Given the description of an element on the screen output the (x, y) to click on. 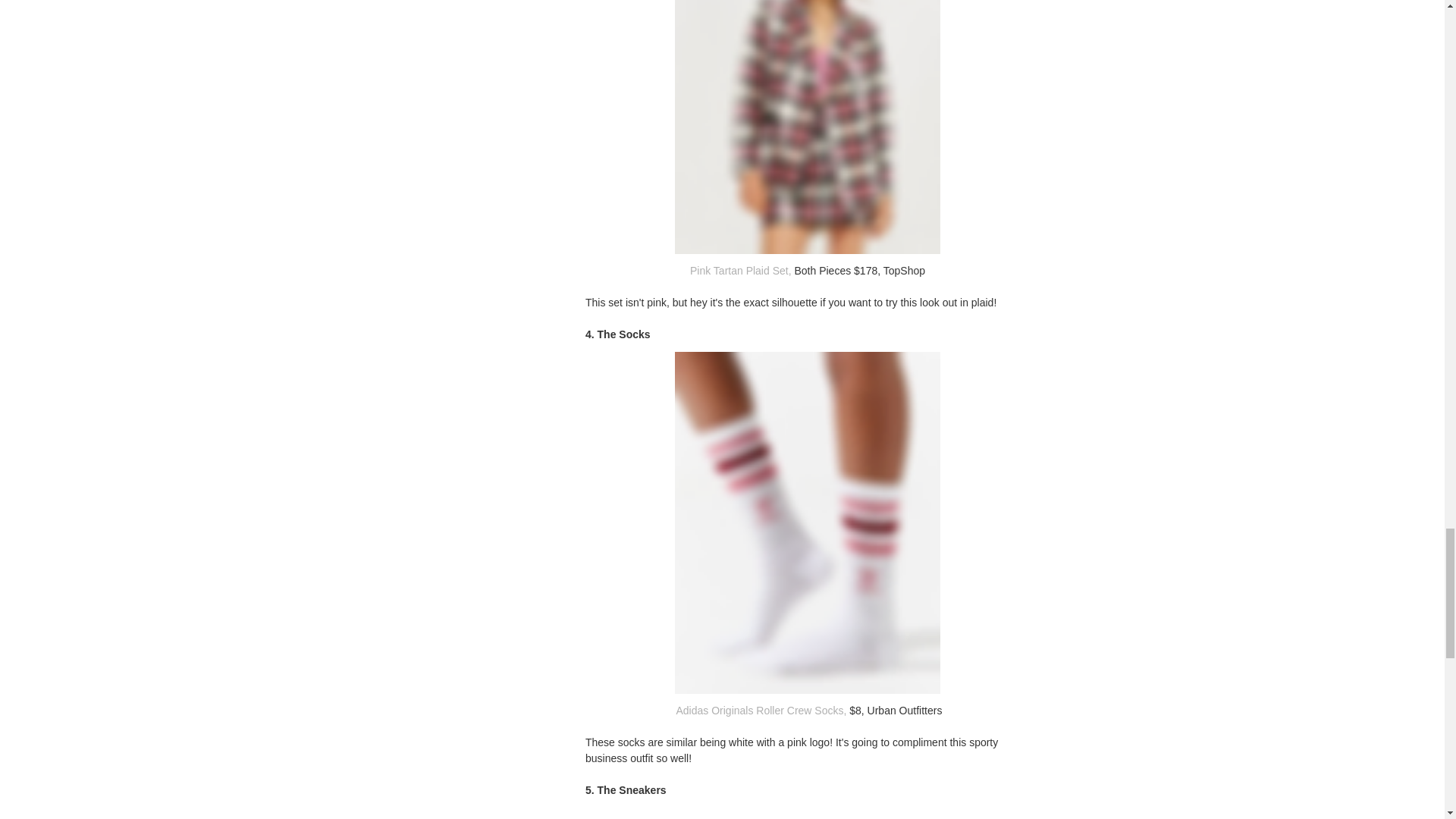
 Pink Tartan Plaid Set, (739, 270)
 Adidas Originals Roller Crew Socks, (758, 710)
